Given the description of an element on the screen output the (x, y) to click on. 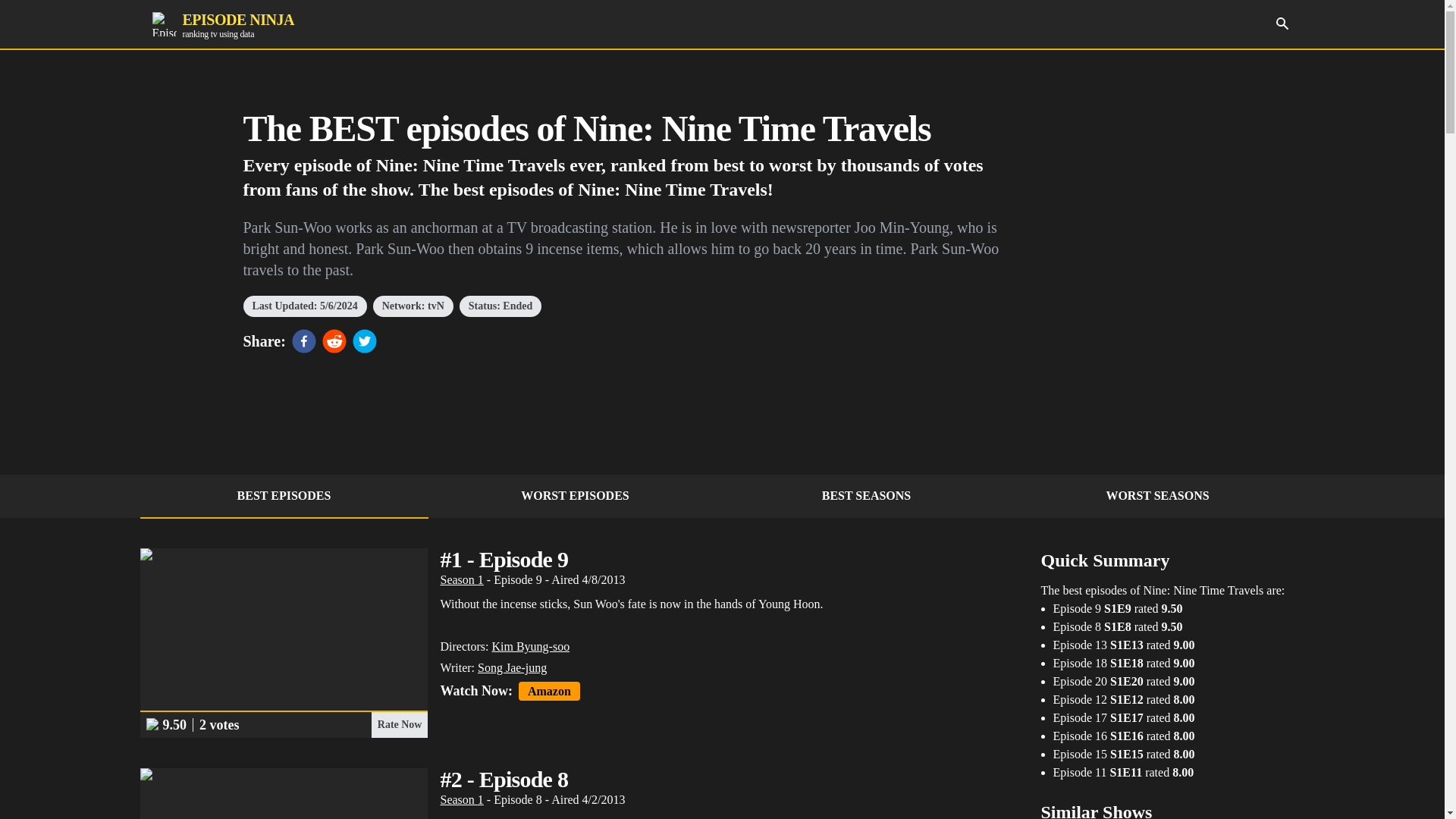
Season 1 (461, 799)
Amazon (222, 24)
Rate Now (548, 691)
BEST EPISODES (399, 724)
Season 1 (283, 496)
WORST SEASONS (461, 579)
Search (1157, 495)
Kim Byung-soo (1281, 22)
Song Jae-jung (530, 645)
WORST EPISODES (512, 667)
Network: tvN (574, 495)
BEST SEASONS (412, 305)
